Given the description of an element on the screen output the (x, y) to click on. 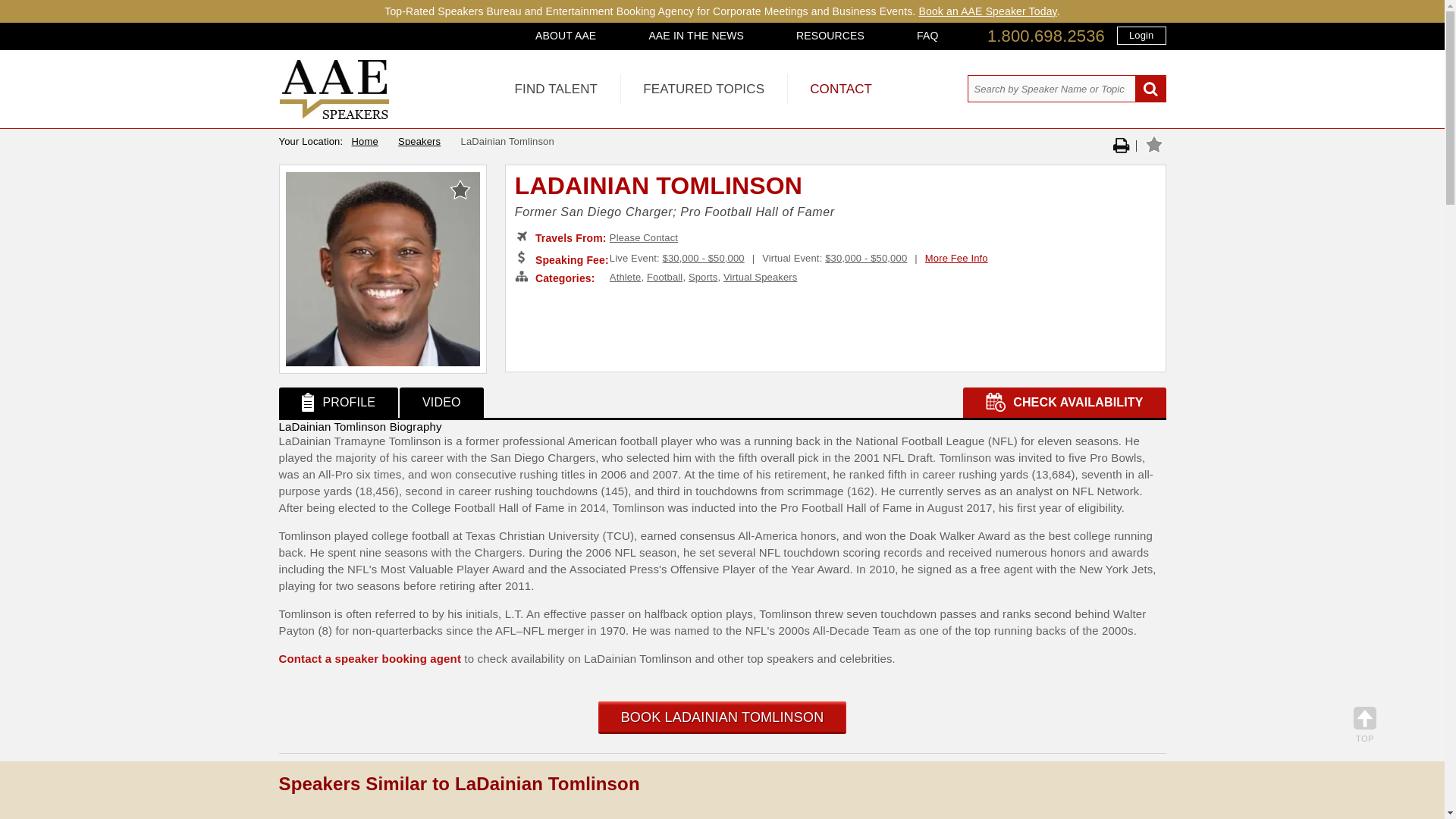
RESOURCES (829, 34)
1.800.698.2536 (1046, 35)
Login (1141, 35)
Book an AAE Speaker Today (987, 10)
Search (1150, 89)
AAE IN THE NEWS (695, 34)
ABOUT AAE (565, 34)
All American Speakers Bureau and Celebrity Booking Agency (334, 115)
FAQ (927, 34)
